Given the description of an element on the screen output the (x, y) to click on. 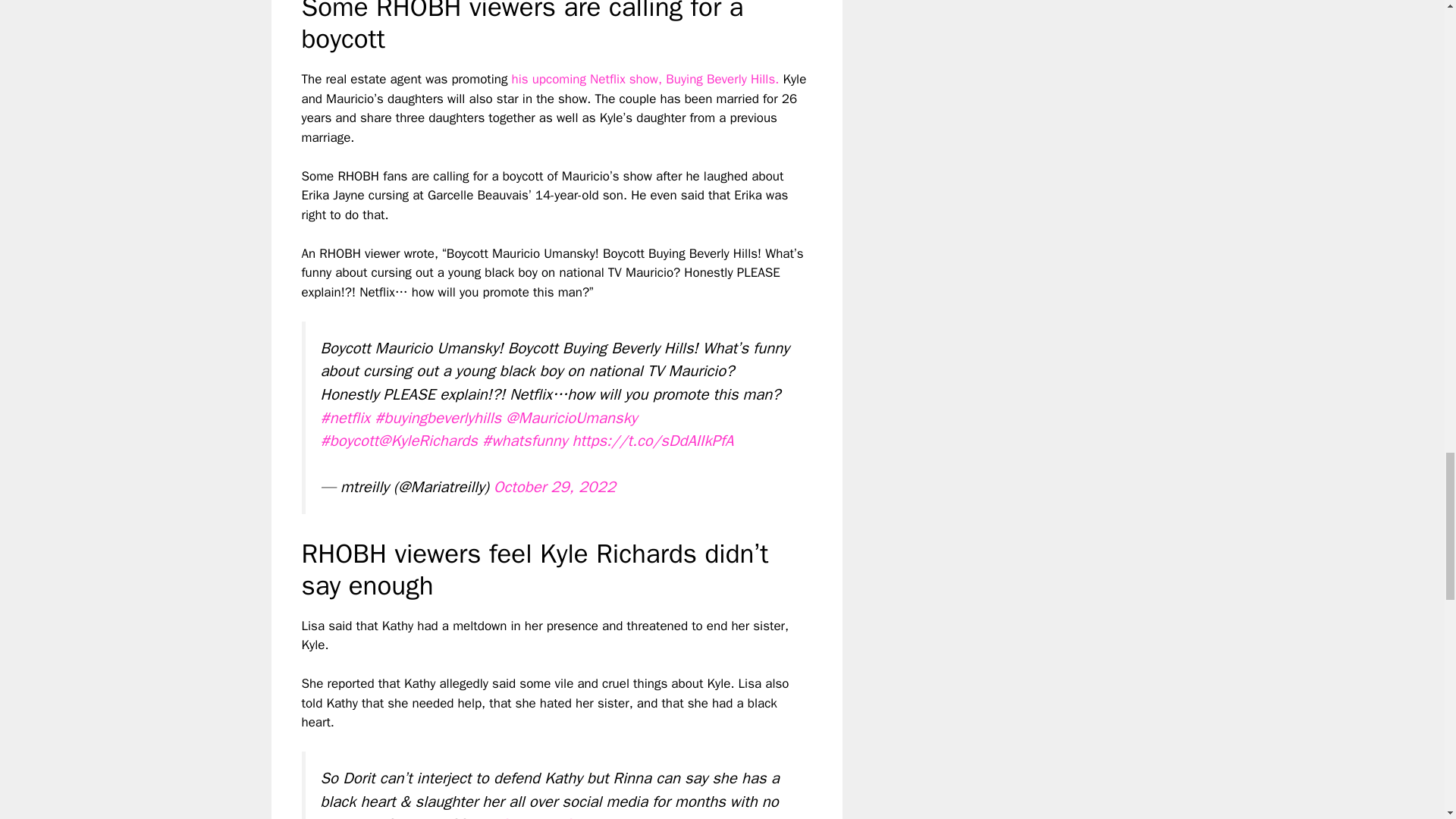
October 29, 2022 (554, 486)
his upcoming Netflix show, Buying Beverly Hills. (645, 78)
